Given the description of an element on the screen output the (x, y) to click on. 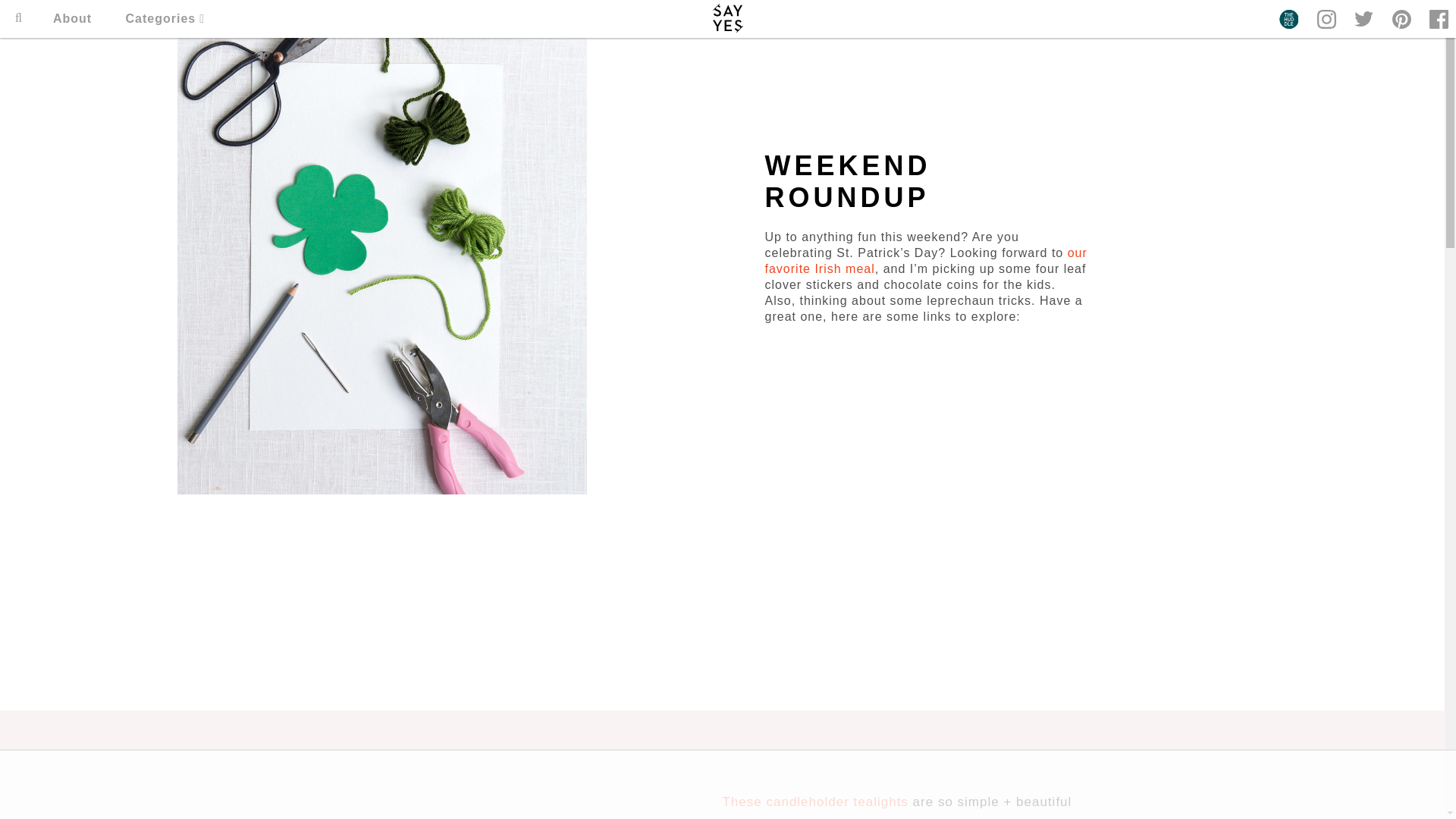
our favorite Irish meal (925, 260)
These candleholder tealights (814, 801)
About (71, 18)
Categories (165, 18)
